Given the description of an element on the screen output the (x, y) to click on. 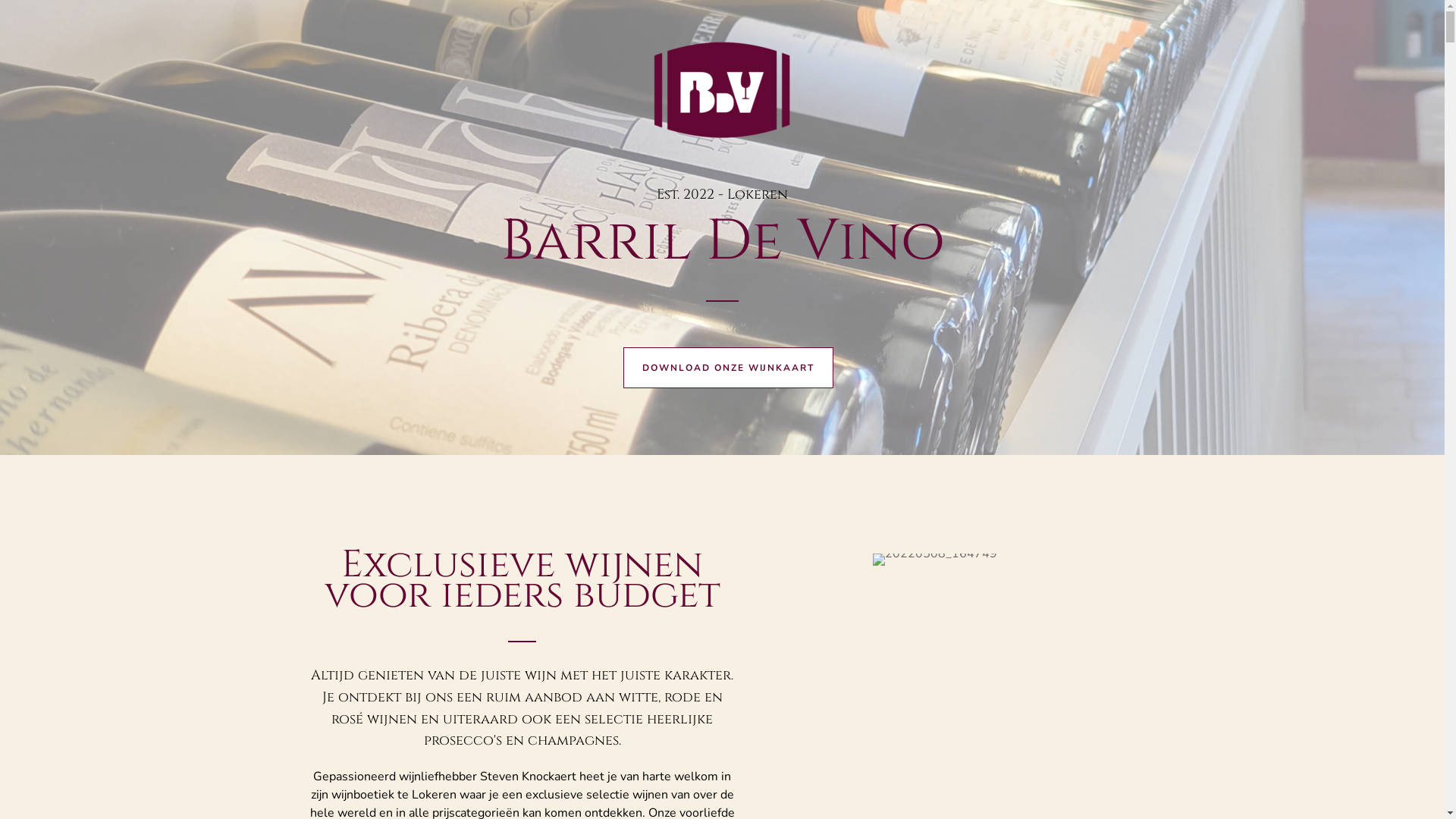
DOWNLOAD ONZE WIJNKAART Element type: text (728, 367)
20220508_164749 Element type: hover (934, 559)
